Given the description of an element on the screen output the (x, y) to click on. 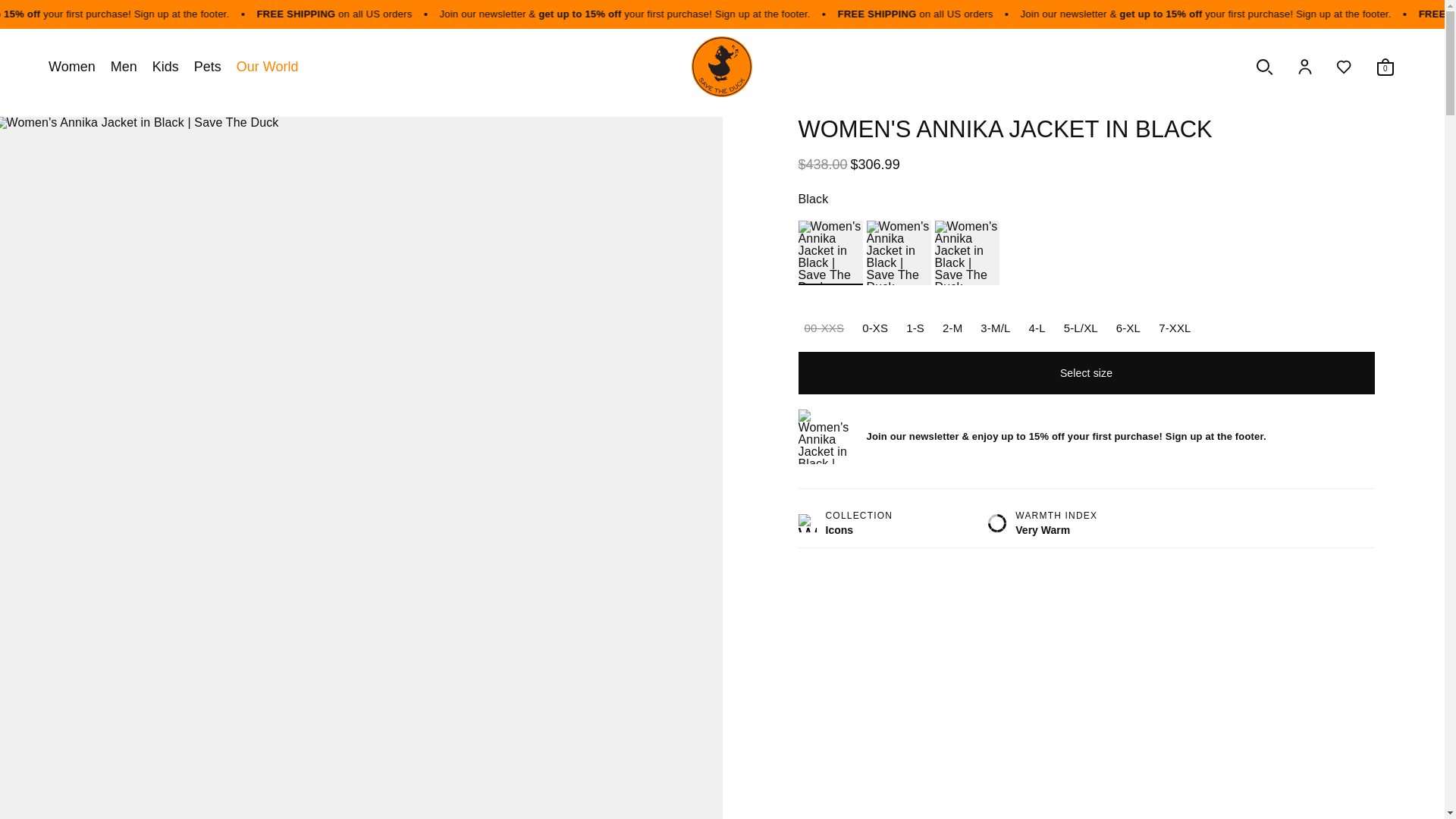
Wishlist (1343, 66)
Log in (1304, 66)
Search (1264, 66)
Save The Duck USA (721, 66)
